Given the description of an element on the screen output the (x, y) to click on. 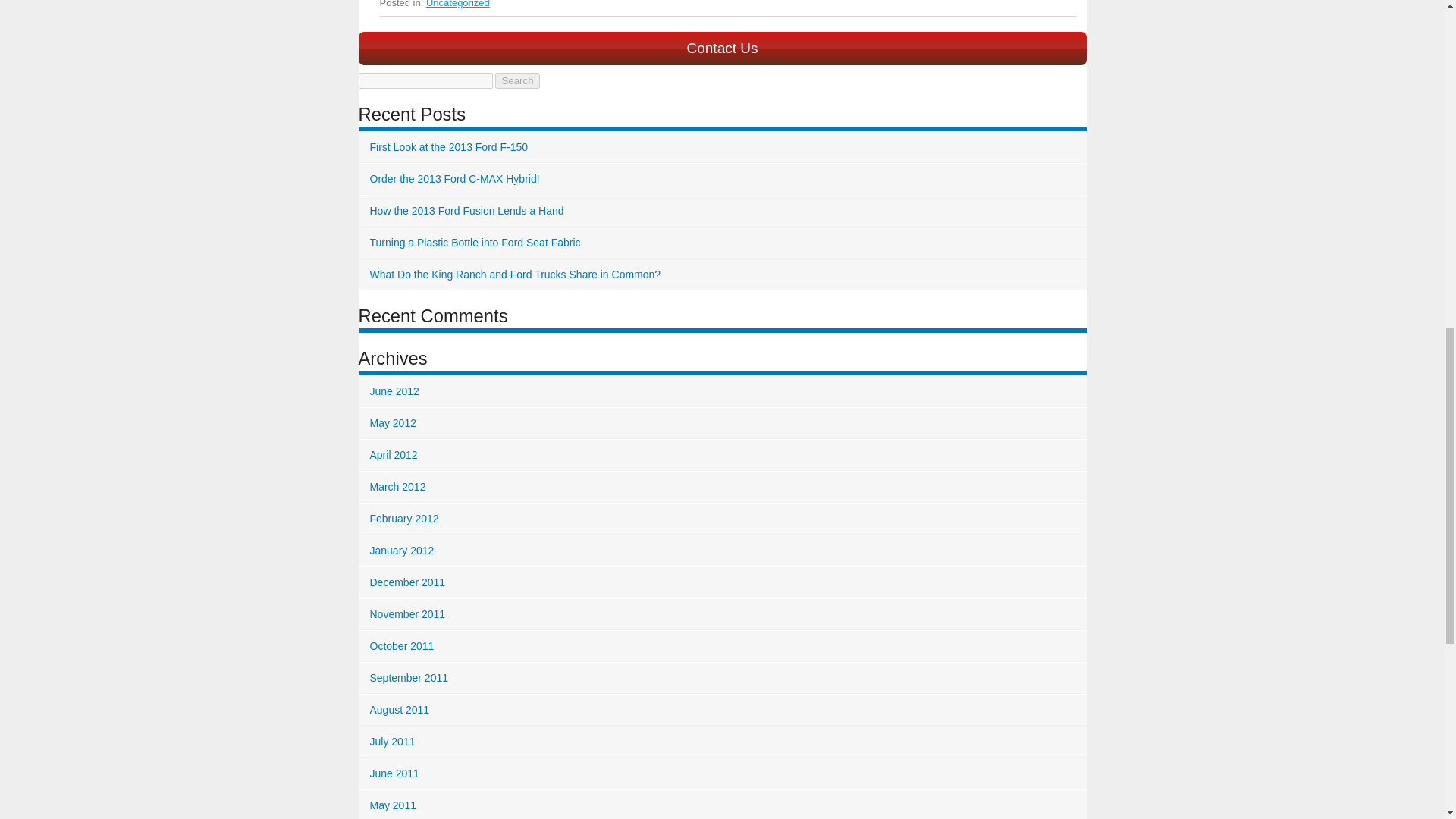
How the 2013 Ford Fusion Lends a Hand (722, 210)
First Look at the 2013 Ford F-150 (722, 146)
April 2012 (722, 454)
Search (516, 80)
November 2011 (722, 613)
Turning a Plastic Bottle into Ford Seat Fabric (722, 242)
May 2012 (722, 422)
June 2012 (722, 391)
March 2012 (722, 486)
Search (516, 80)
